Given the description of an element on the screen output the (x, y) to click on. 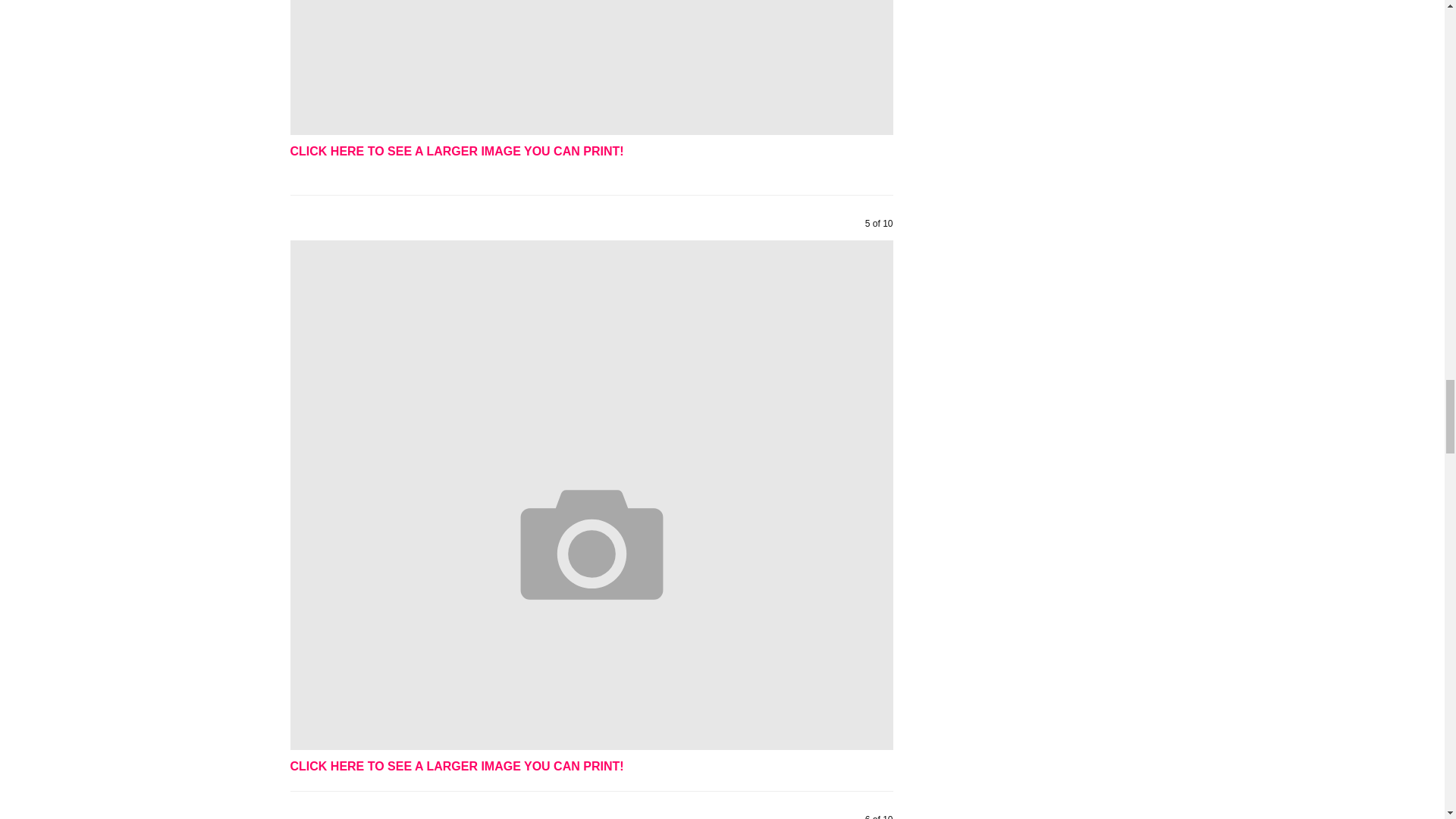
CLICK HERE TO SEE A LARGER IMAGE YOU CAN PRINT! (456, 766)
CLICK HERE TO SEE A LARGER IMAGE YOU CAN PRINT! (456, 151)
